Given the description of an element on the screen output the (x, y) to click on. 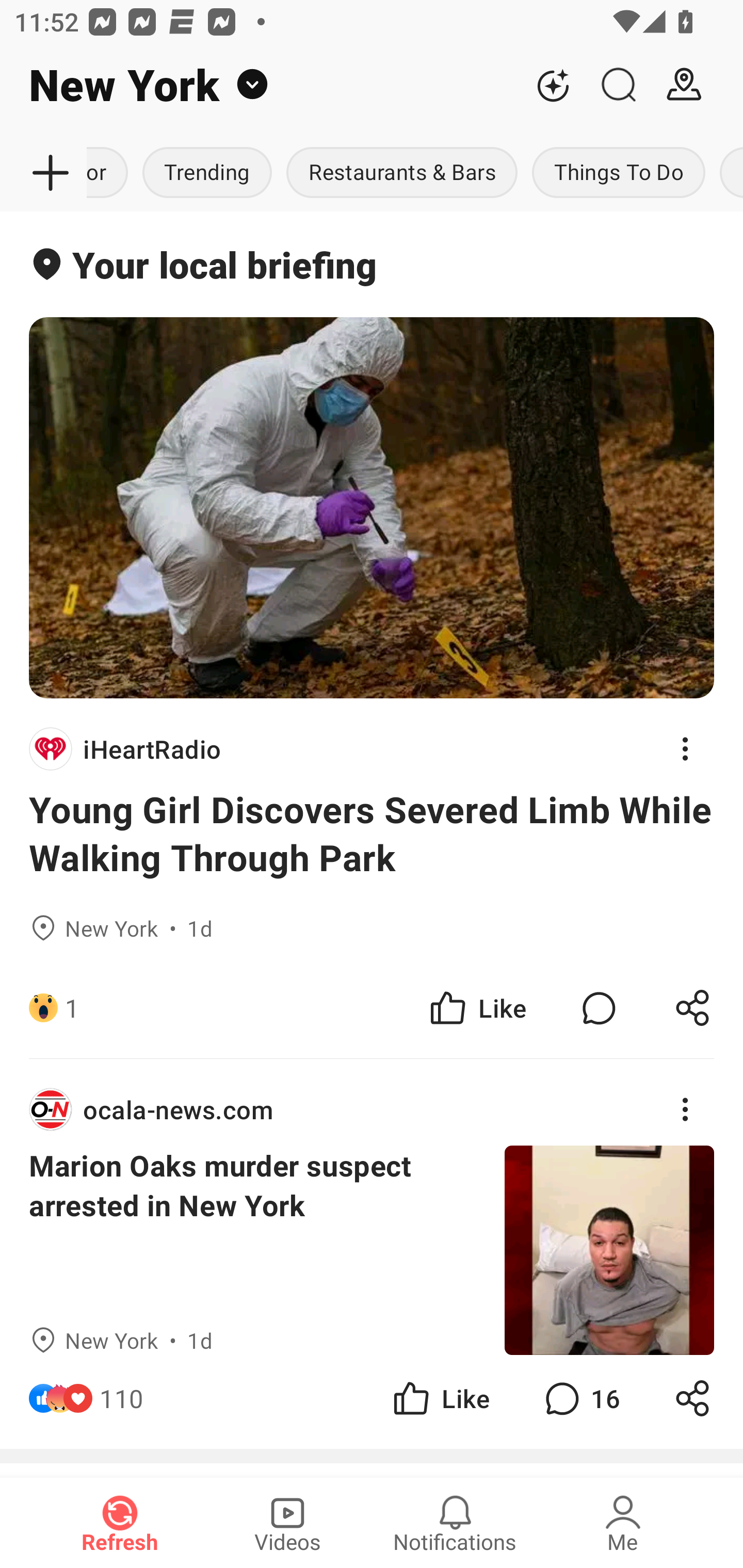
New York (260, 84)
Trending (207, 172)
Restaurants & Bars (401, 172)
Things To Do (618, 172)
1 (72, 1007)
Like (476, 1007)
110 (121, 1397)
Like (439, 1397)
16 (579, 1397)
Videos (287, 1522)
Notifications (455, 1522)
Me (622, 1522)
